Given the description of an element on the screen output the (x, y) to click on. 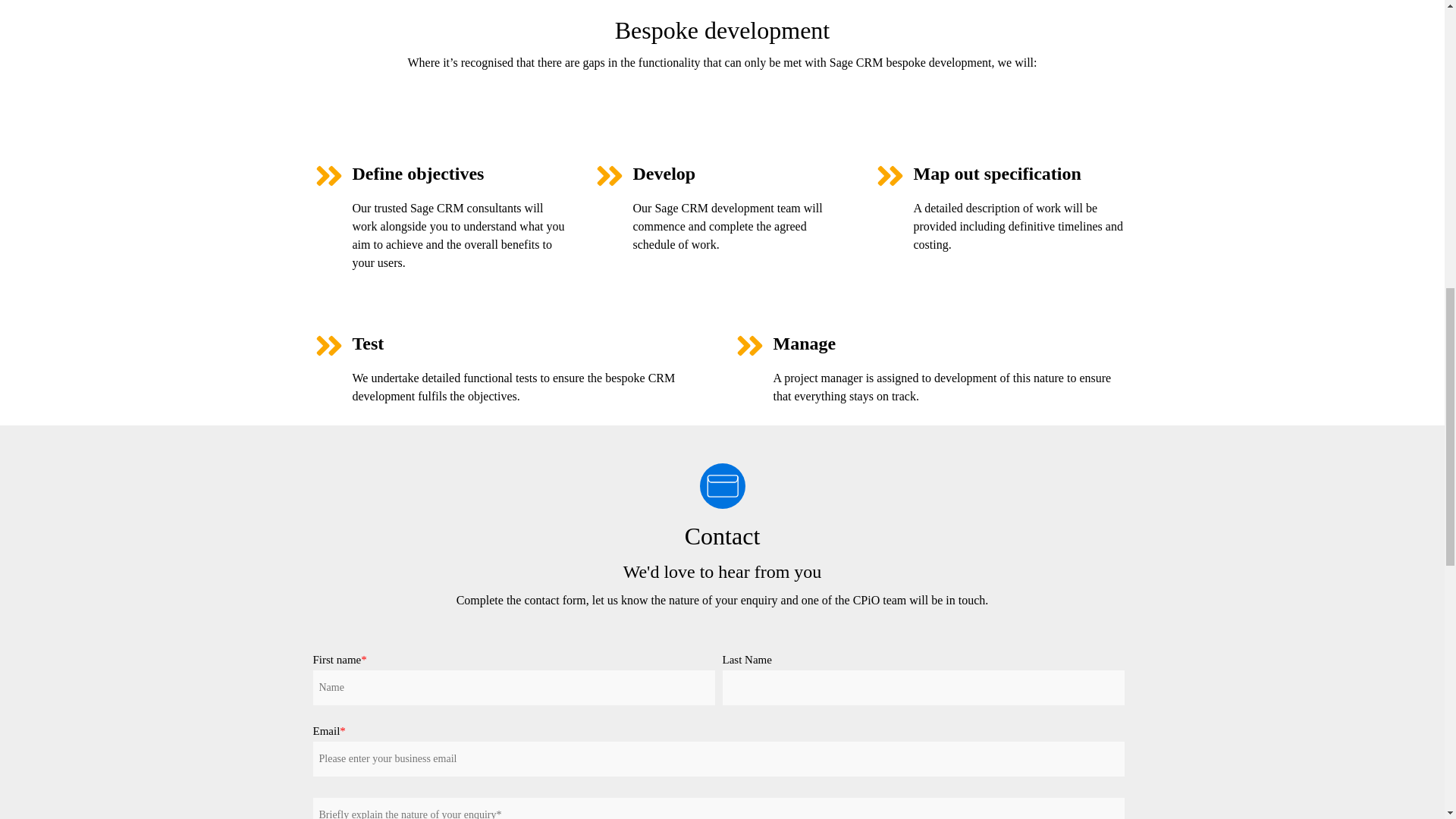
Contact  Us (721, 485)
